Given the description of an element on the screen output the (x, y) to click on. 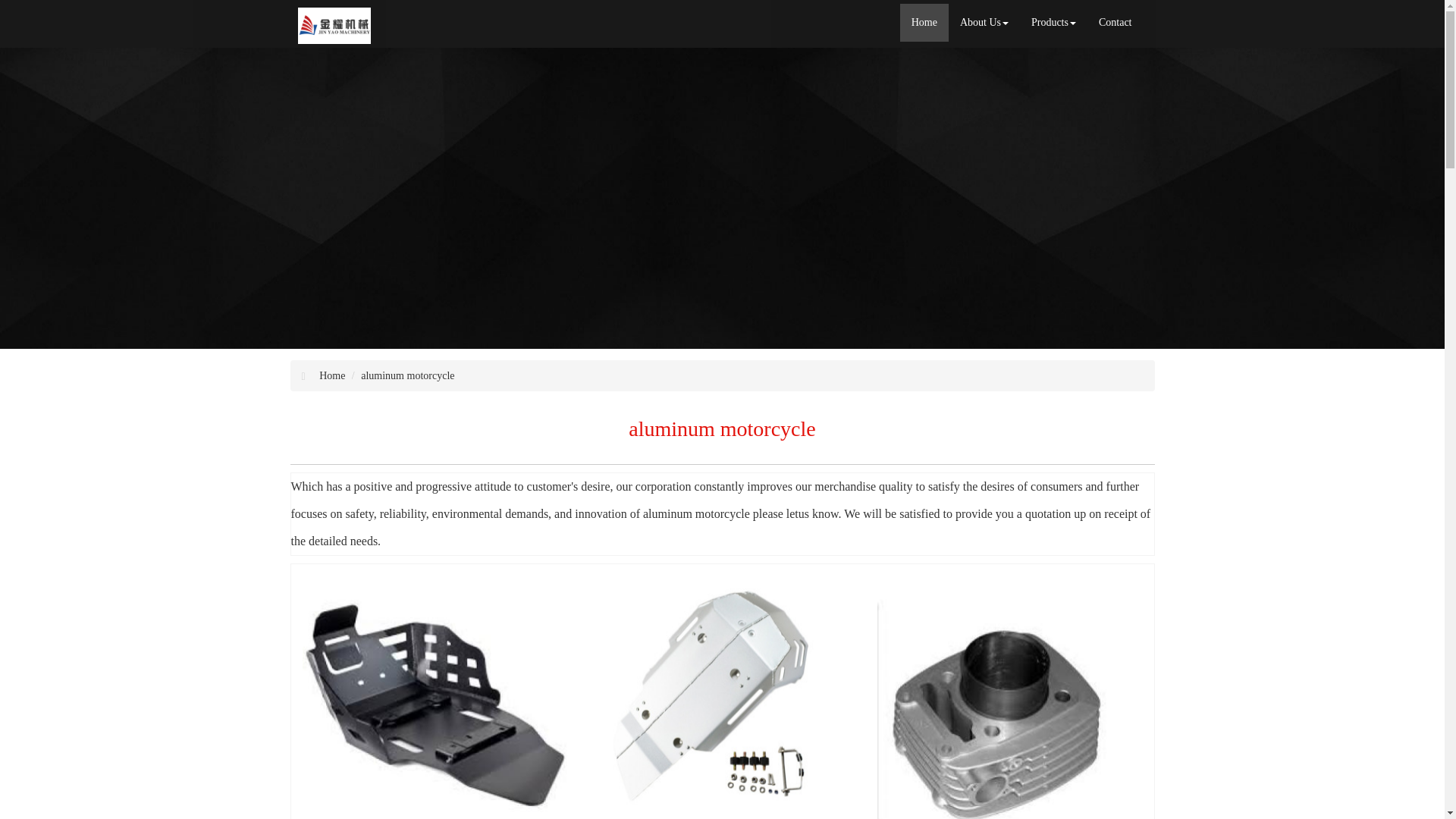
Products (1053, 22)
Home (924, 22)
About Us (984, 22)
